Given the description of an element on the screen output the (x, y) to click on. 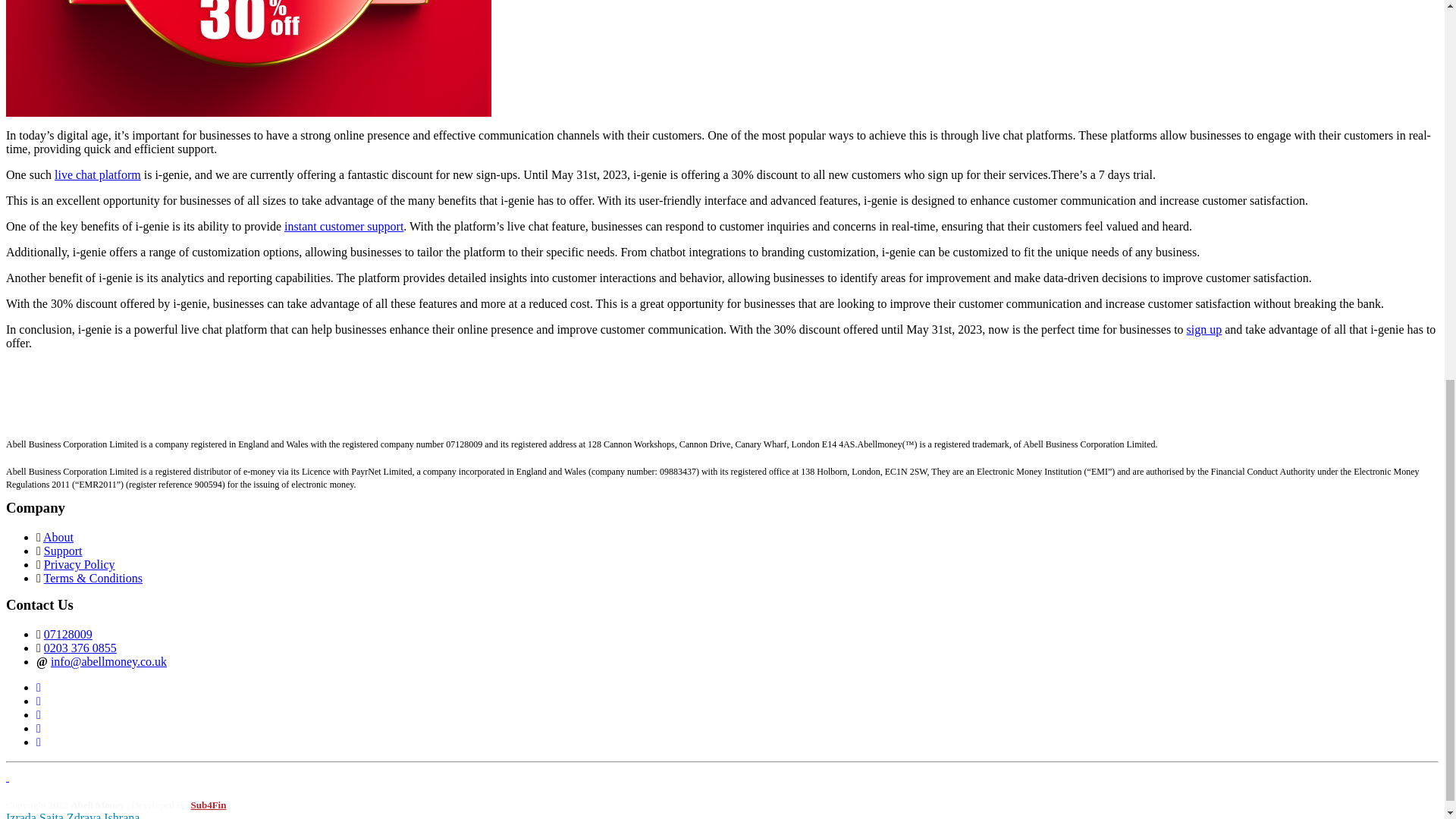
Support (62, 550)
sign up (1204, 328)
About (58, 536)
live chat platform (98, 173)
Customer Support (49, 408)
Privacy Policy (79, 563)
Demand Generation (54, 395)
Sign Up Now (38, 422)
instant customer support (343, 225)
Click here to Contact US (66, 367)
Live Chat Platform (52, 381)
